Given the description of an element on the screen output the (x, y) to click on. 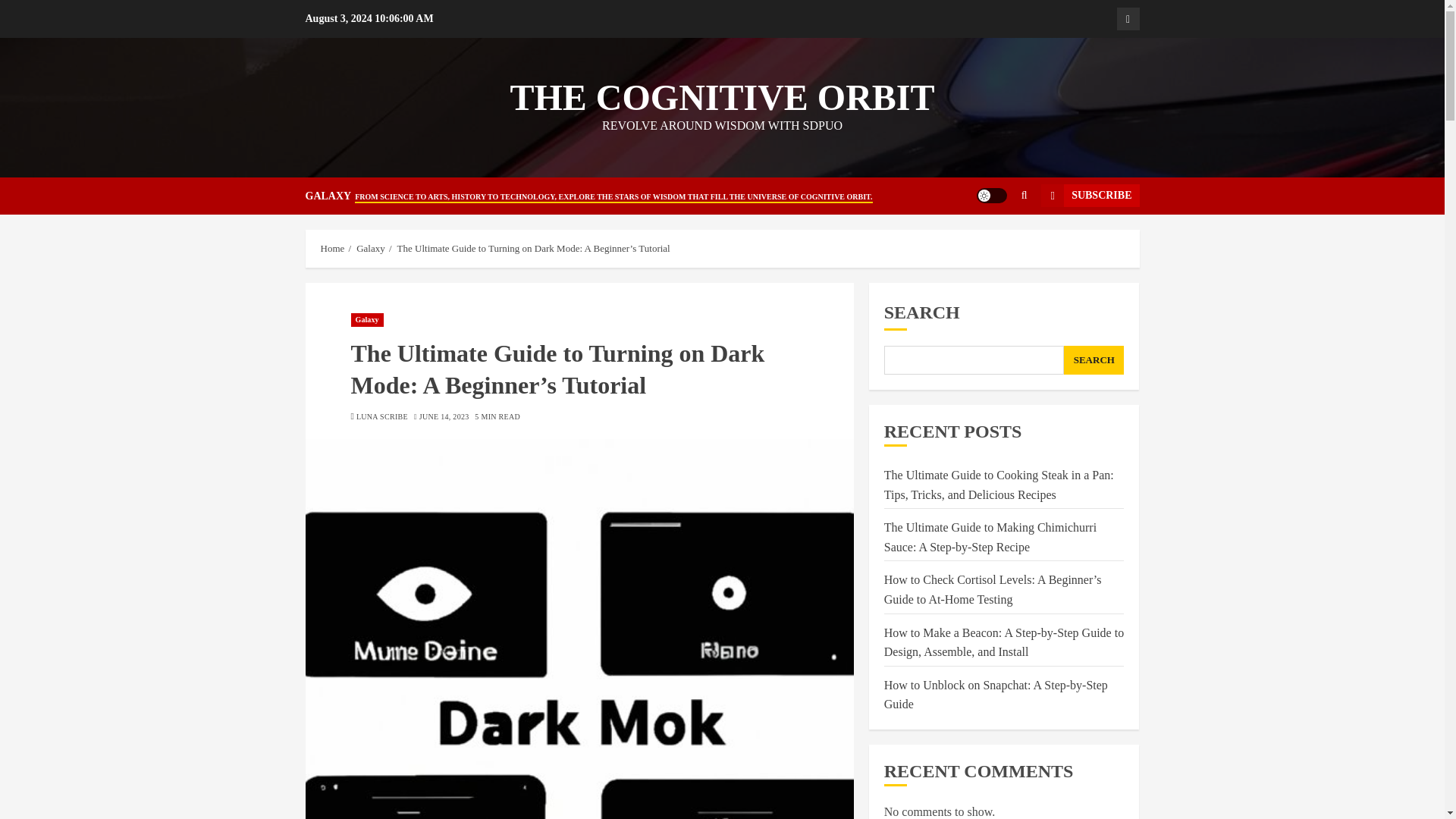
Galaxy (370, 248)
Galaxy (1127, 18)
JUNE 14, 2023 (443, 416)
SEARCH (1094, 359)
THE COGNITIVE ORBIT (721, 96)
SUBSCRIBE (1089, 195)
Search (994, 241)
LUNA SCRIBE (381, 416)
How to Unblock on Snapchat: A Step-by-Step Guide (995, 694)
Galaxy (366, 319)
Home (331, 248)
